Given the description of an element on the screen output the (x, y) to click on. 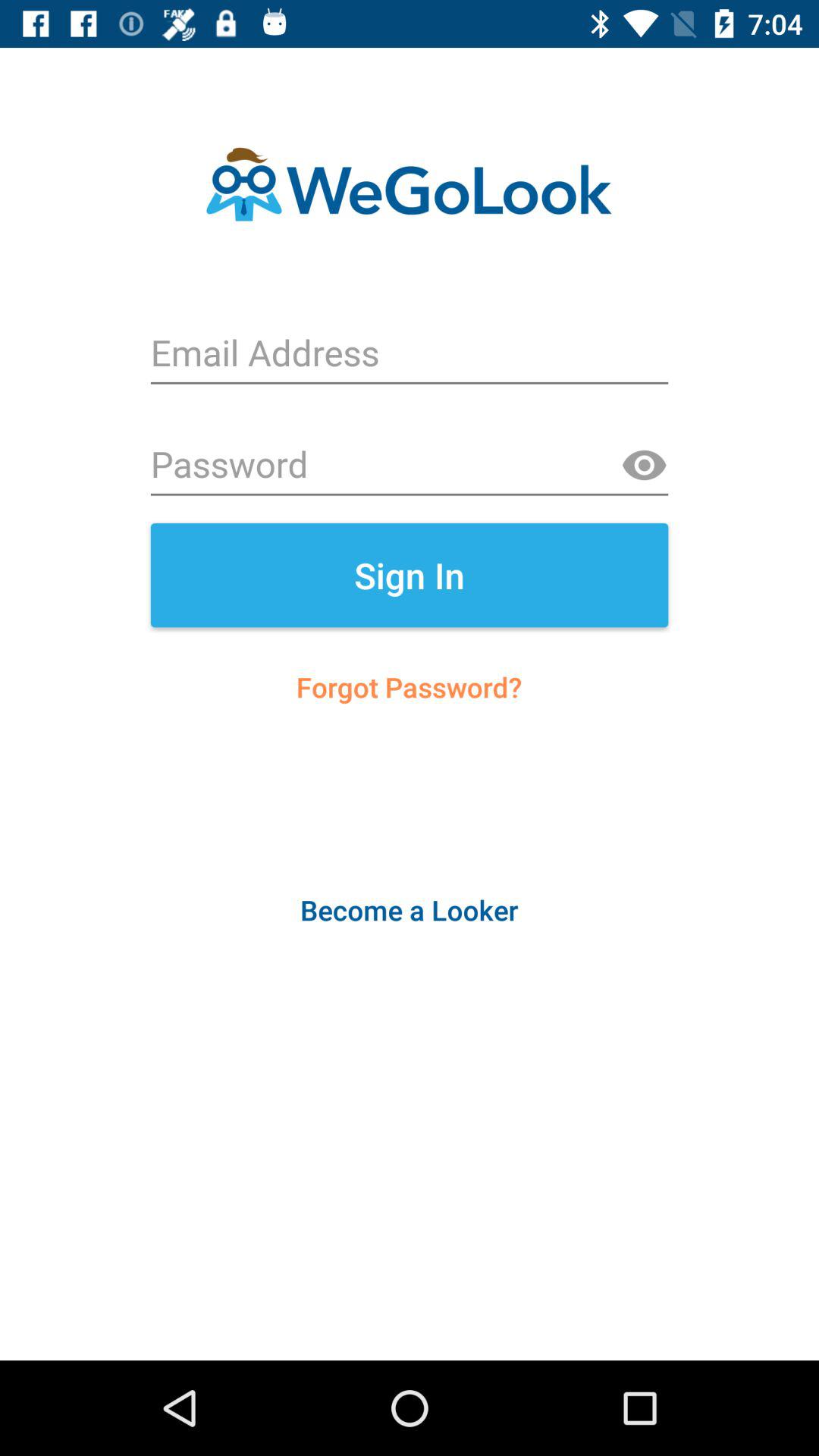
show password text (644, 465)
